Given the description of an element on the screen output the (x, y) to click on. 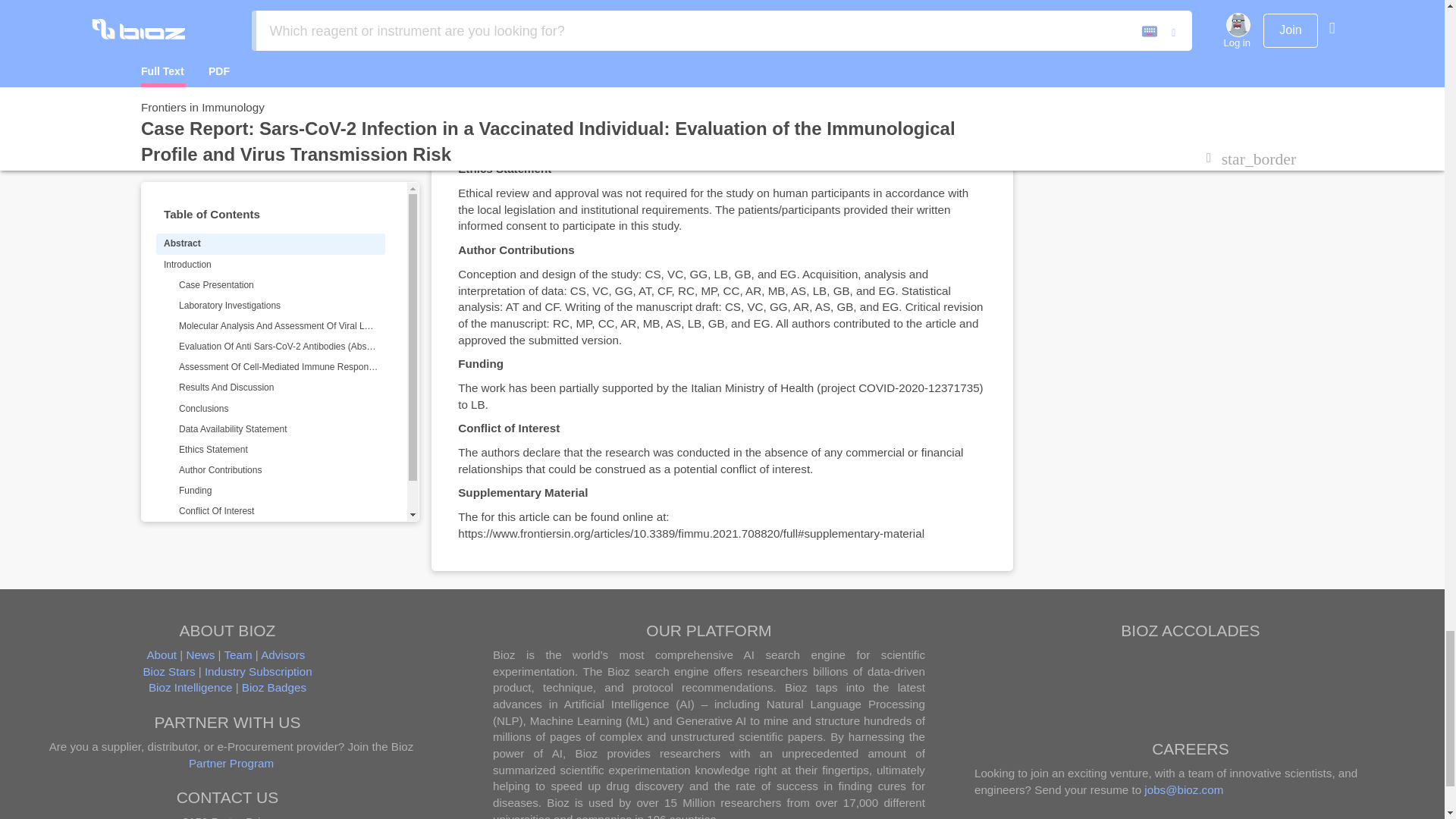
News (200, 654)
Partner Program (301, 771)
Advisors (282, 654)
Bioz Stars (168, 671)
Team (237, 654)
Industry Subscription (259, 671)
About (161, 654)
Bioz Intelligence (190, 686)
Bioz Badges (273, 686)
